Given the description of an element on the screen output the (x, y) to click on. 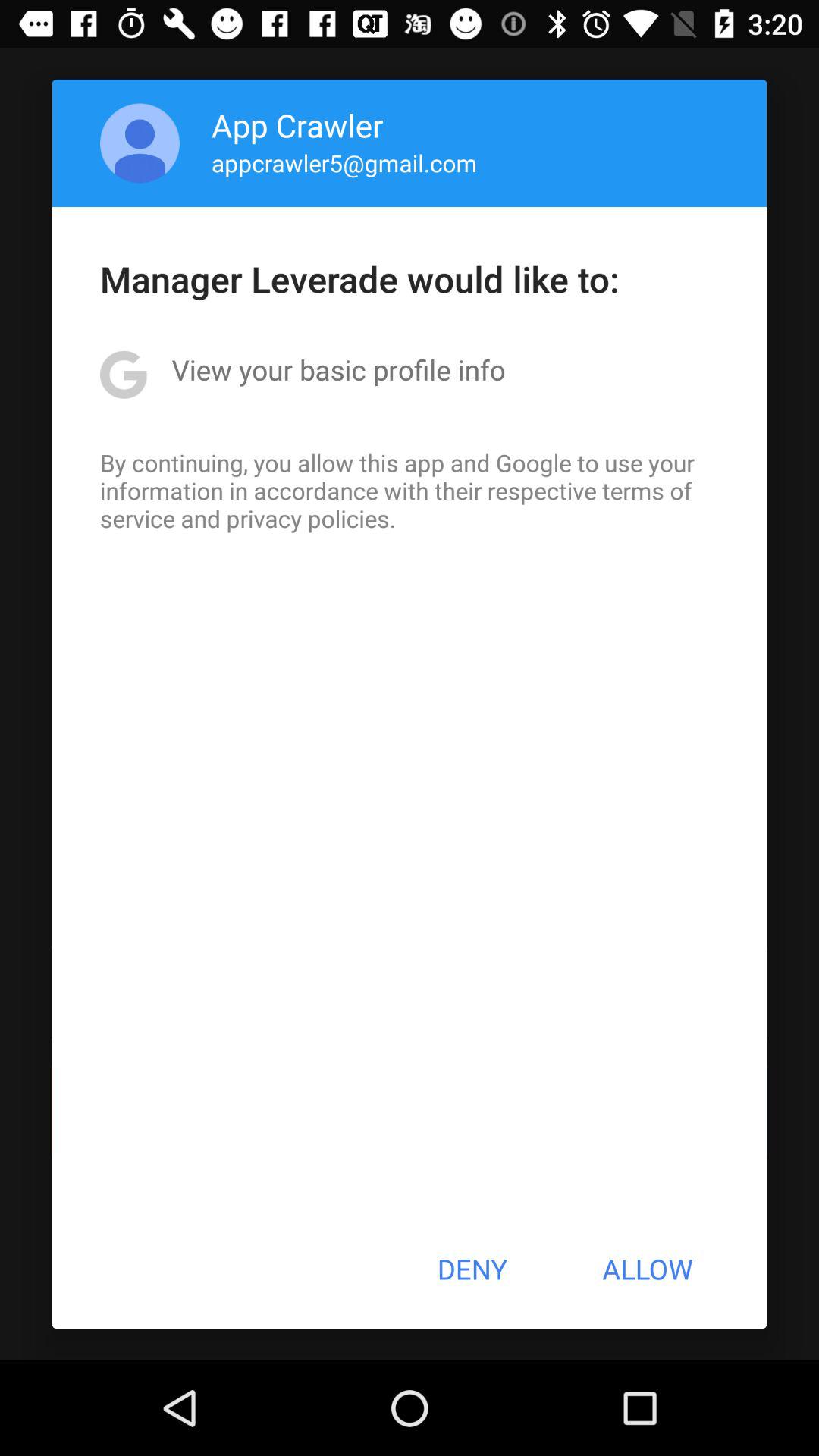
launch icon below by continuing you app (471, 1268)
